Given the description of an element on the screen output the (x, y) to click on. 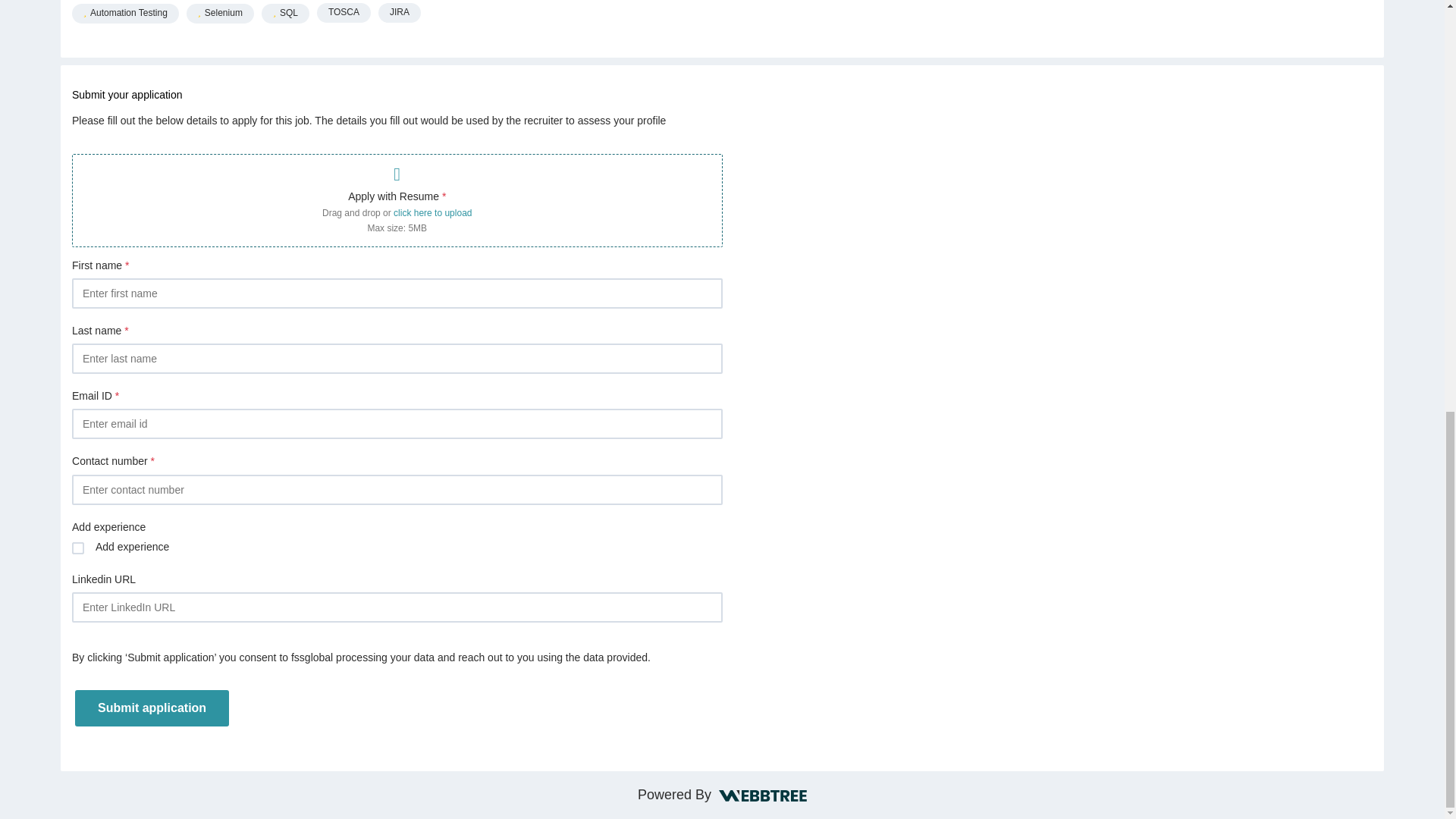
experience (77, 548)
Submit application (151, 707)
